Given the description of an element on the screen output the (x, y) to click on. 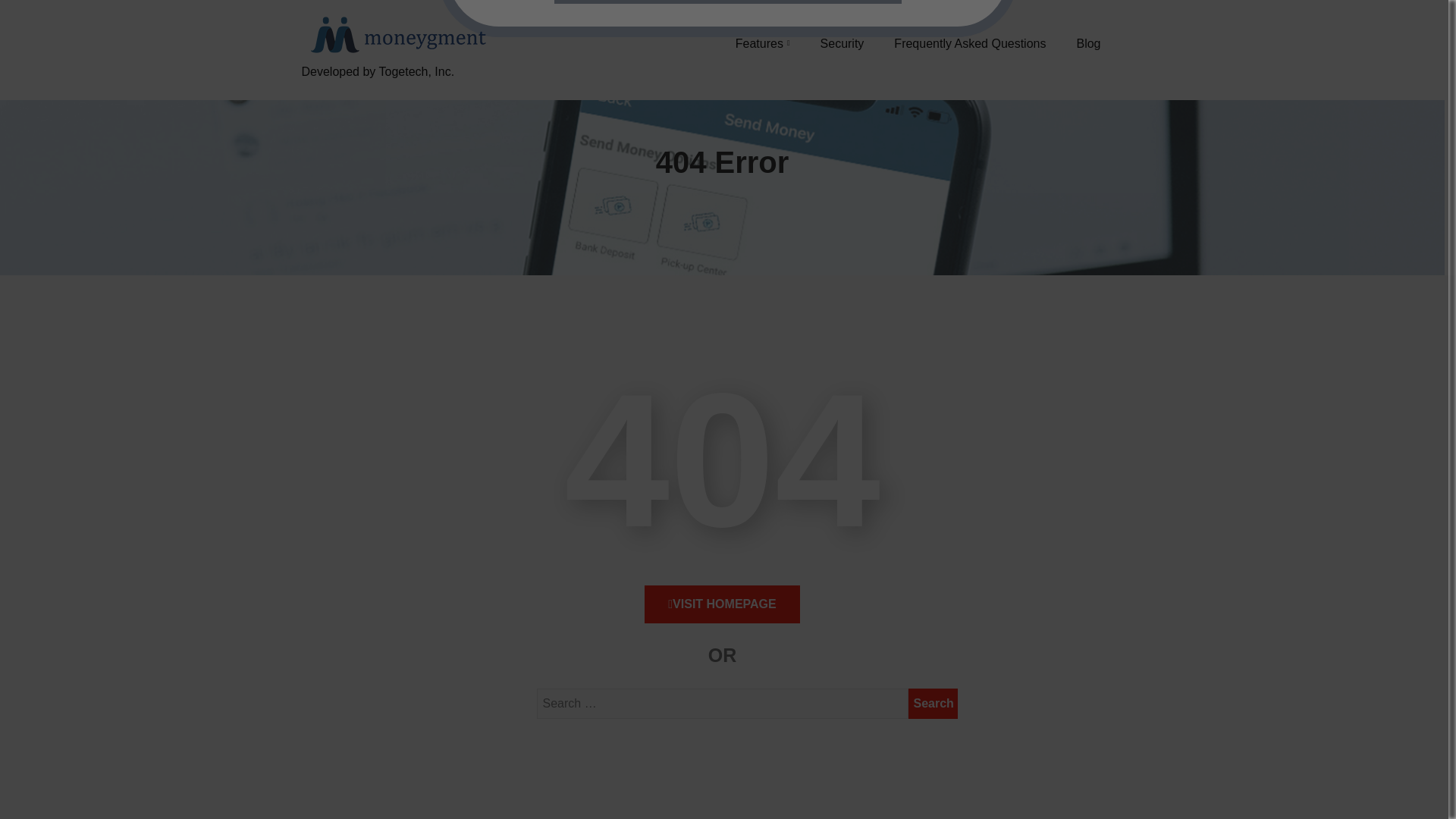
Search (933, 703)
Search (933, 703)
Search (933, 703)
Developed by Togetech, Inc. (396, 89)
VISIT HOMEPAGE (722, 604)
Security (842, 43)
Frequently Asked Questions (969, 43)
Features (762, 43)
